Given the description of an element on the screen output the (x, y) to click on. 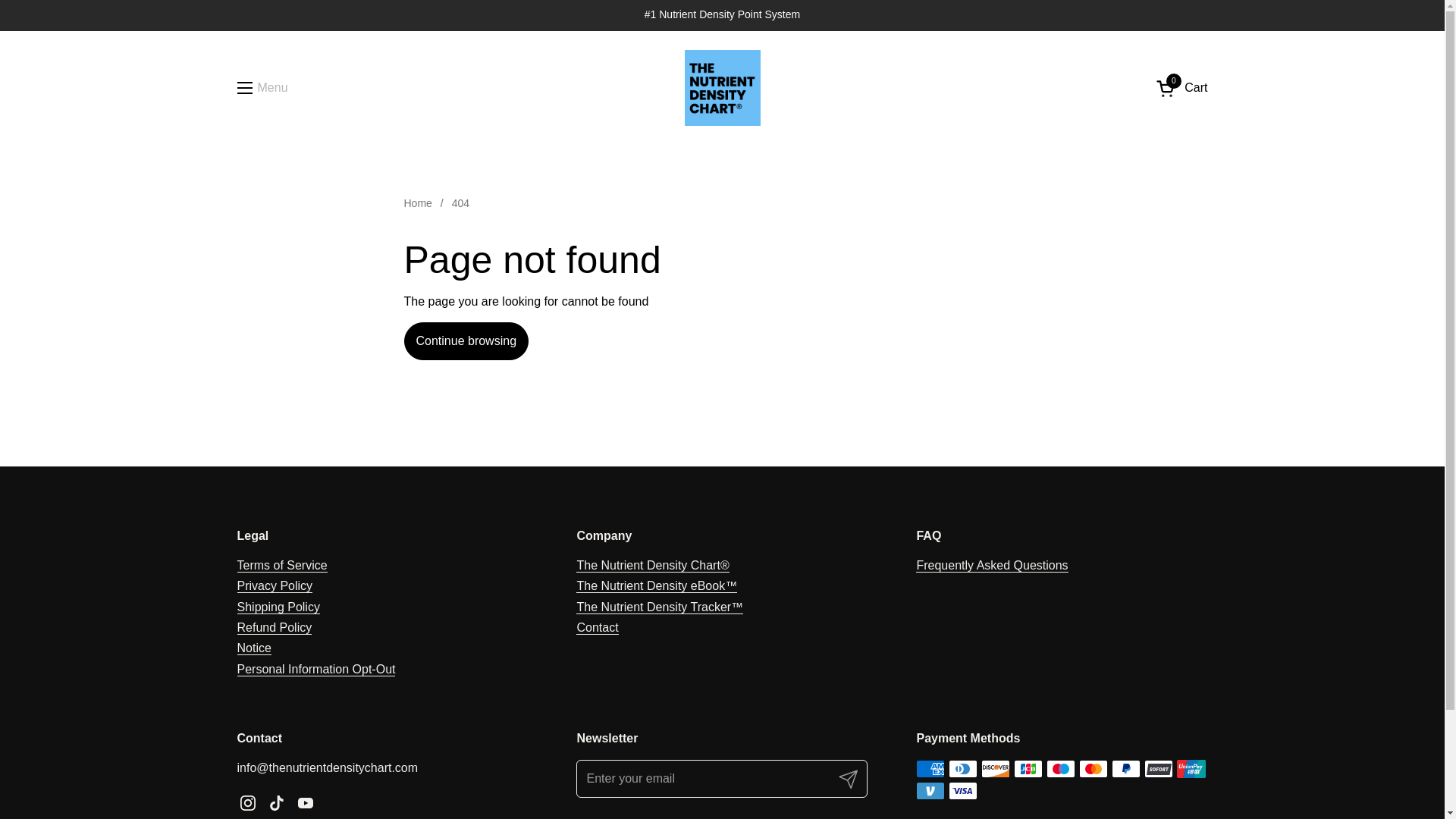
Frequently Asked Questions (991, 565)
Continue browsing (465, 341)
Home (416, 204)
Refund Policy (273, 627)
Terms of Service (280, 565)
Contact (596, 627)
Shipping Policy (1181, 87)
Open cart (276, 607)
Instagram (260, 87)
Submit (1181, 87)
TikTok (247, 802)
YouTube (848, 778)
